Given the description of an element on the screen output the (x, y) to click on. 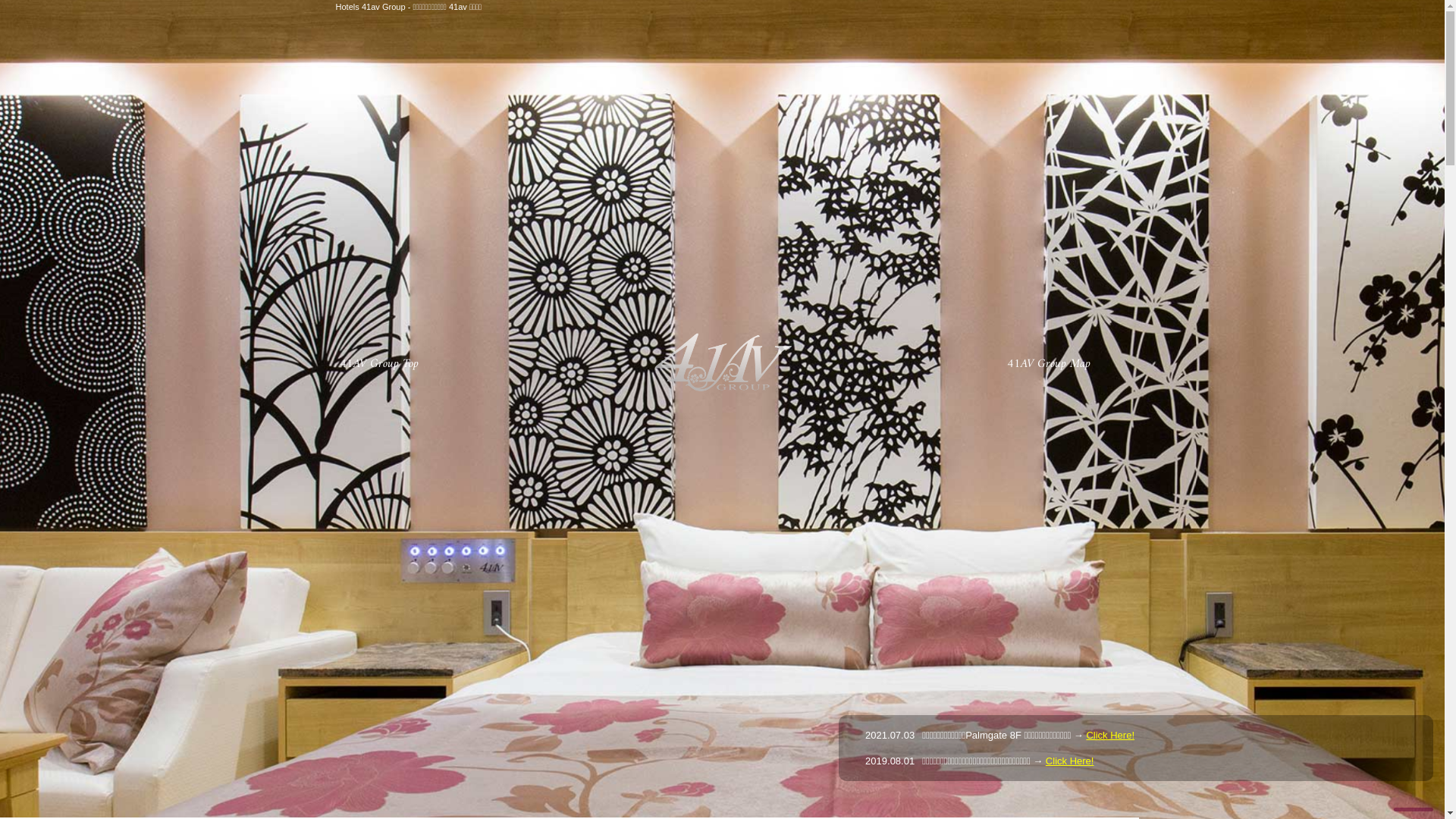
41AV Group Top Element type: text (376, 363)
41AV Group Map Element type: text (1045, 363)
Click Here! Element type: text (1109, 734)
Click Here! Element type: text (1069, 760)
